Given the description of an element on the screen output the (x, y) to click on. 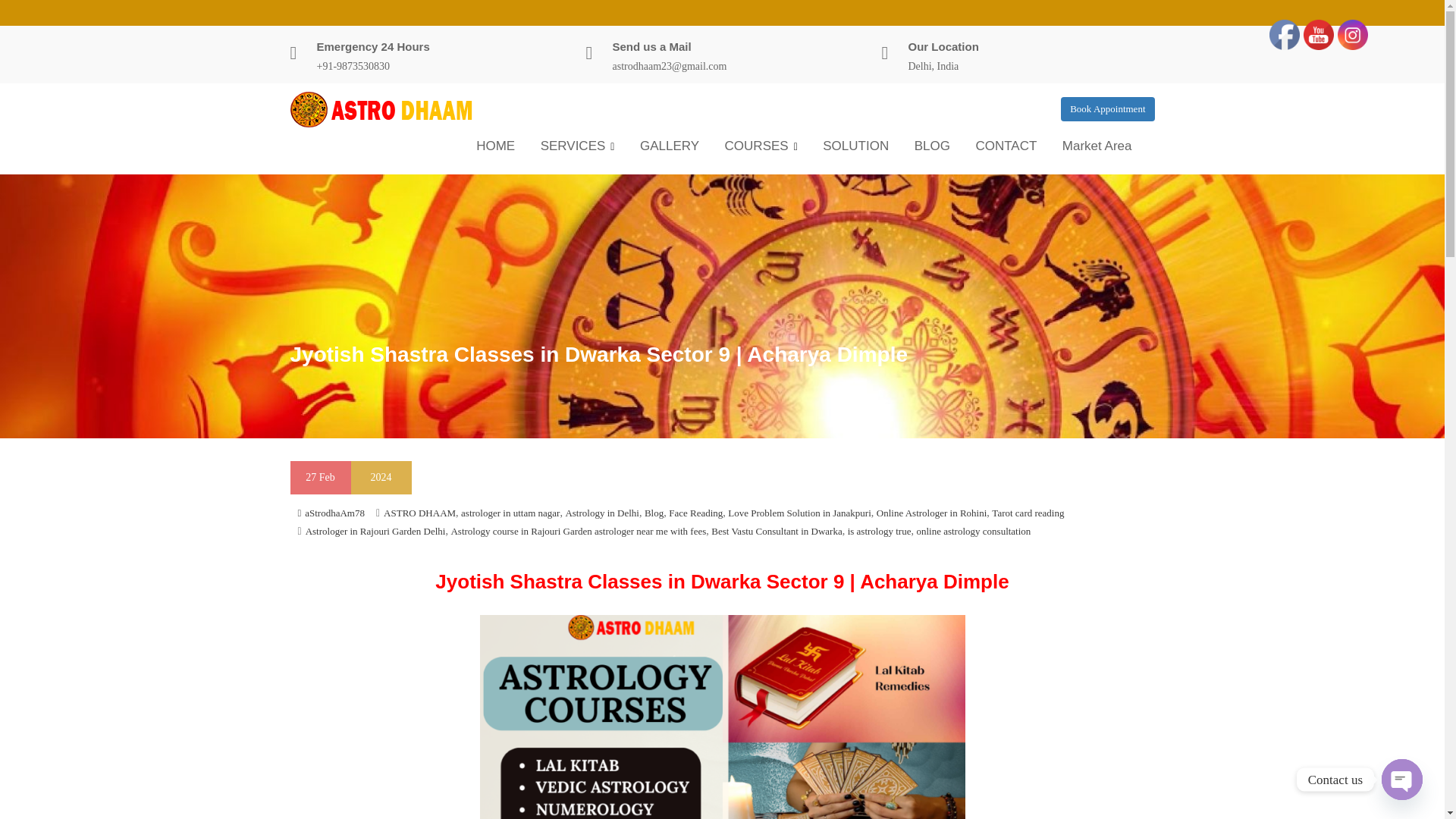
Astrology in Delhi (601, 511)
aStrodhaAm78 (330, 511)
Best Vastu Consultant in Dwarka (776, 530)
is astrology true (879, 530)
Facebook (1284, 34)
Astrologer in Rajouri Garden Delhi (375, 530)
BLOG (931, 146)
astrologer in uttam nagar (510, 511)
COURSES (761, 146)
online astrology consultation (972, 530)
Blog (654, 511)
HOME (494, 146)
SOLUTION (854, 146)
Tarot card reading (1027, 511)
